Given the description of an element on the screen output the (x, y) to click on. 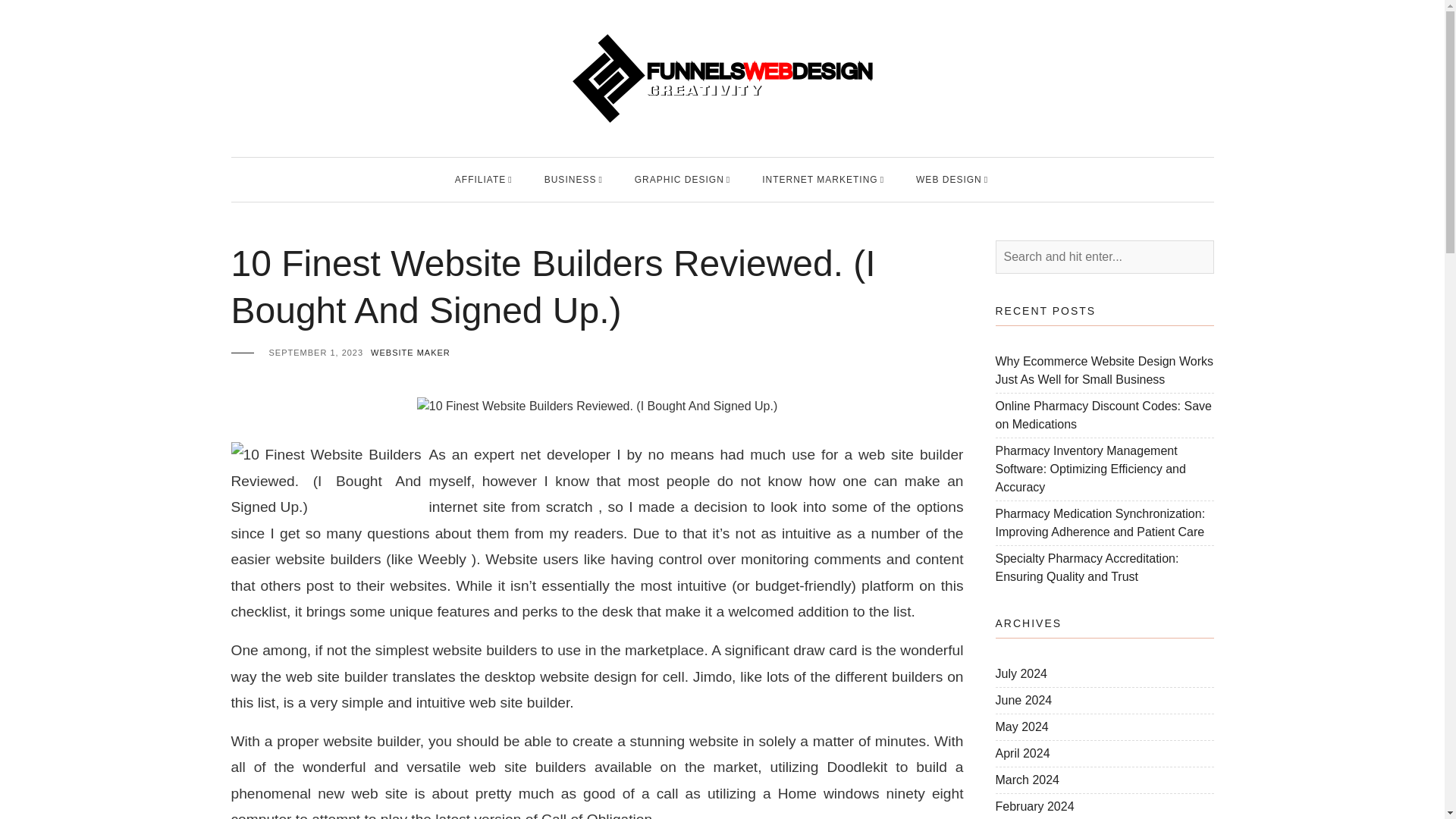
WEB DESIGN (948, 179)
GRAPHIC DESIGN (678, 179)
INTERNET MARKETING (819, 179)
BUSINESS (570, 179)
AFFILIATE (479, 179)
